Given the description of an element on the screen output the (x, y) to click on. 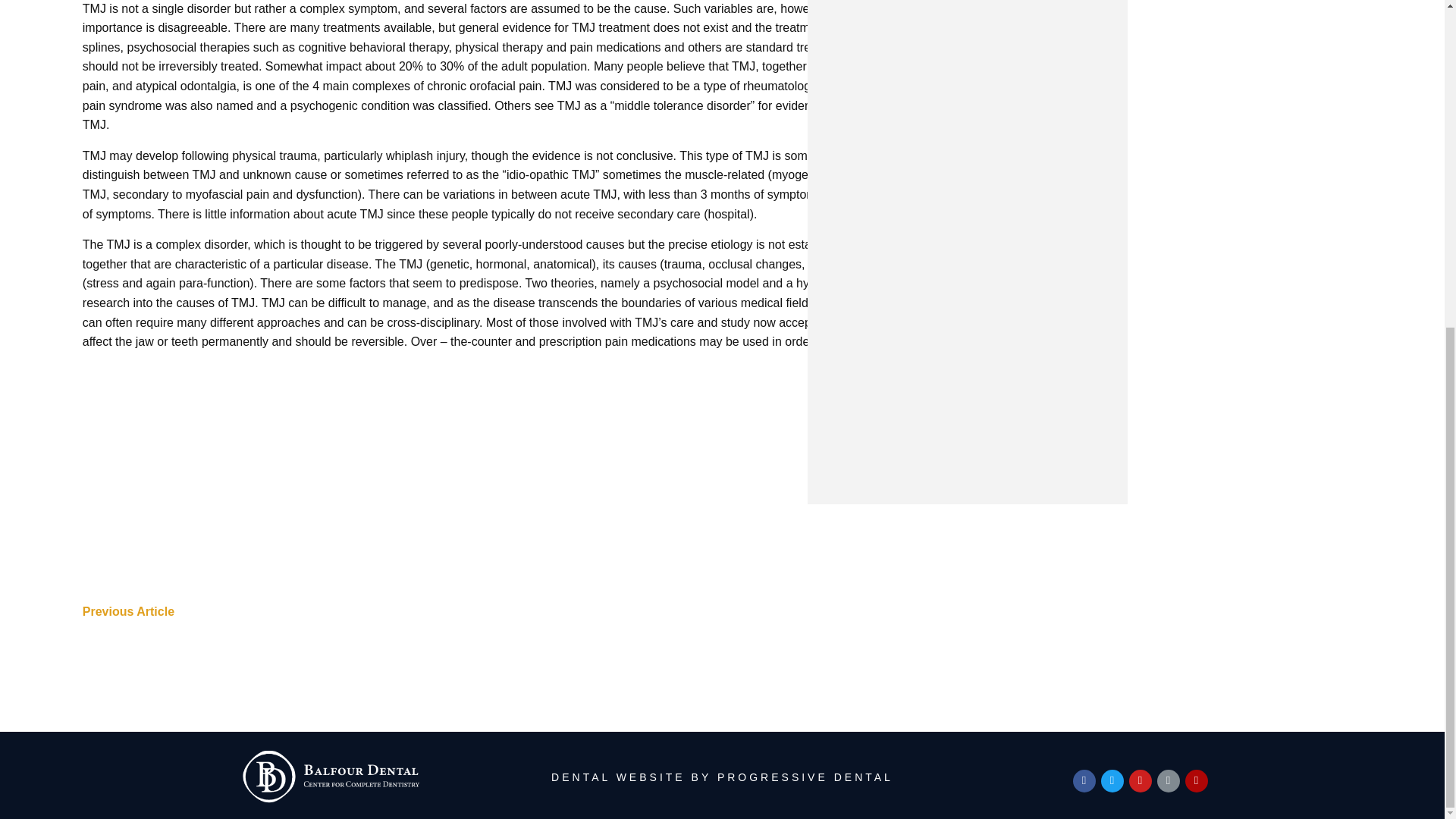
YouTube video player (567, 539)
YouTube video player (567, 419)
